Given the description of an element on the screen output the (x, y) to click on. 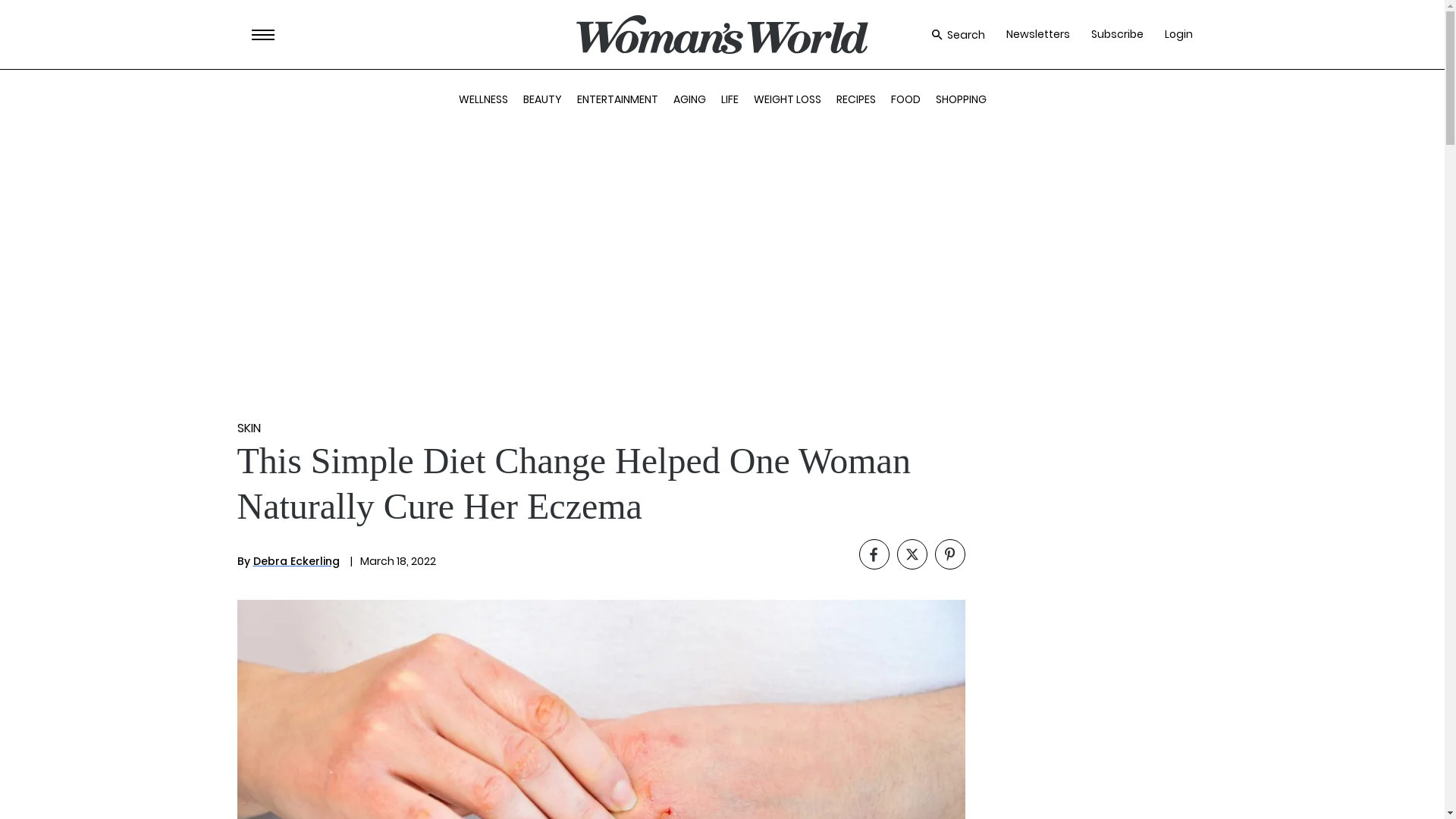
Click to share on Twitter (911, 553)
Click to share on Facebook (873, 553)
Click to share on Pinterest (948, 553)
